Given the description of an element on the screen output the (x, y) to click on. 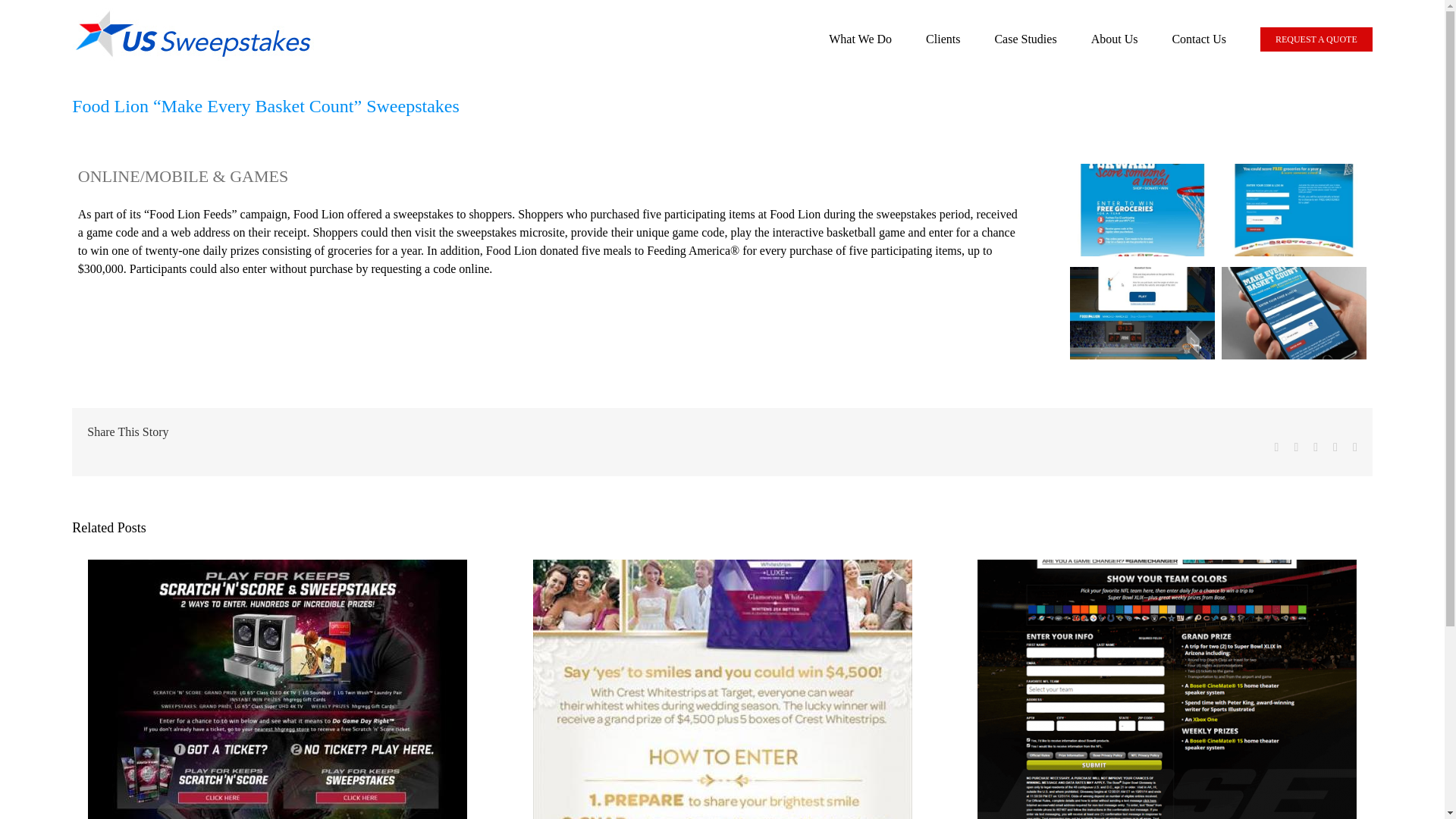
FoodLion-CaseStudyImage-02 (1293, 211)
Case Studies (1025, 39)
REQUEST A QUOTE (1316, 39)
FoodLion-CaseStudyImage-04m (1293, 314)
FoodLion-CaseStudyImage-01 (1142, 211)
What We Do (859, 39)
FoodLion-CaseStudyImage-03 (1142, 314)
